Given the description of an element on the screen output the (x, y) to click on. 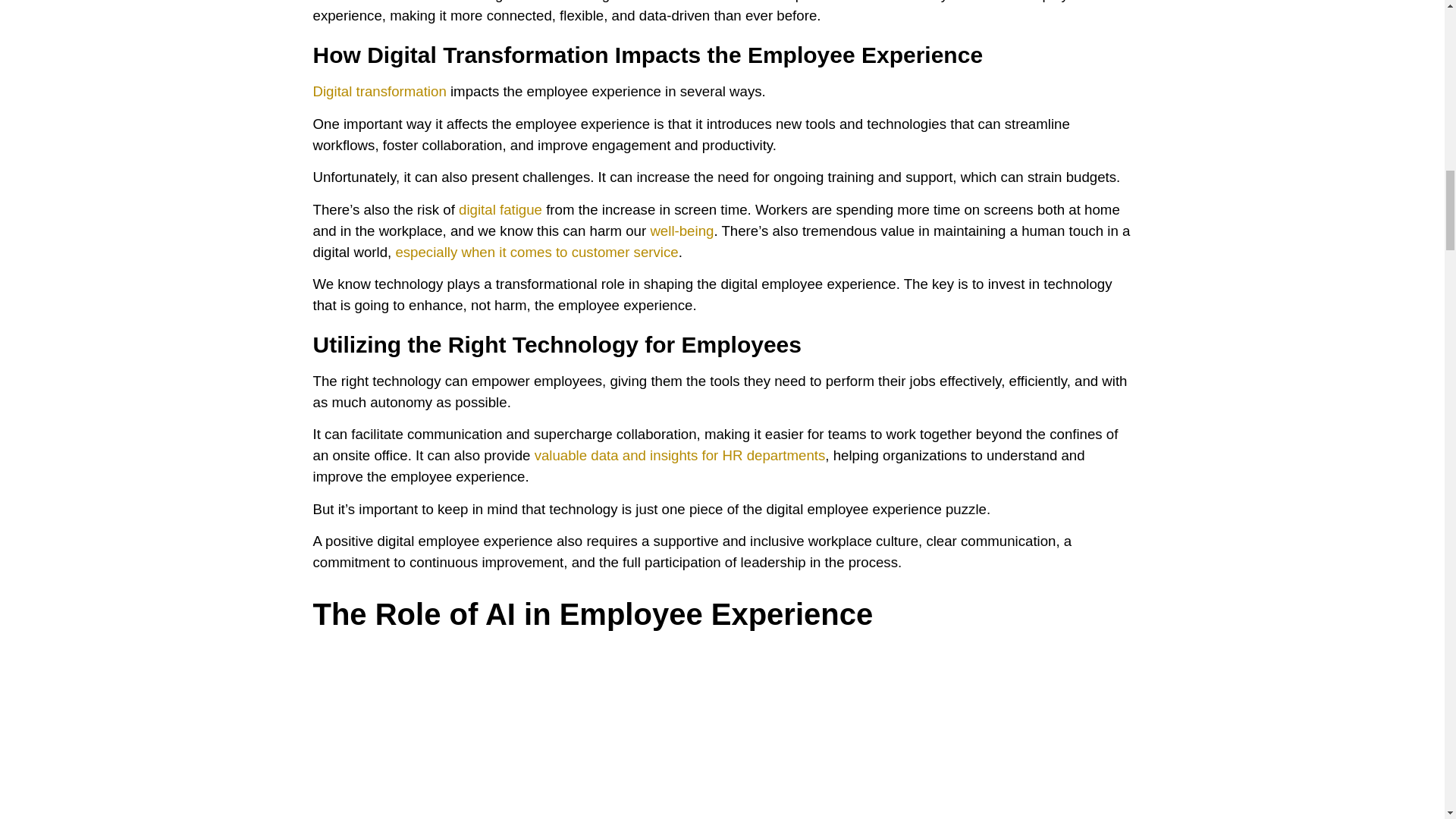
Digital transformation (379, 91)
especially when it comes to customer service (536, 252)
valuable data and insights for HR departments (679, 455)
digital fatigue (499, 209)
well-being (681, 230)
